Given the description of an element on the screen output the (x, y) to click on. 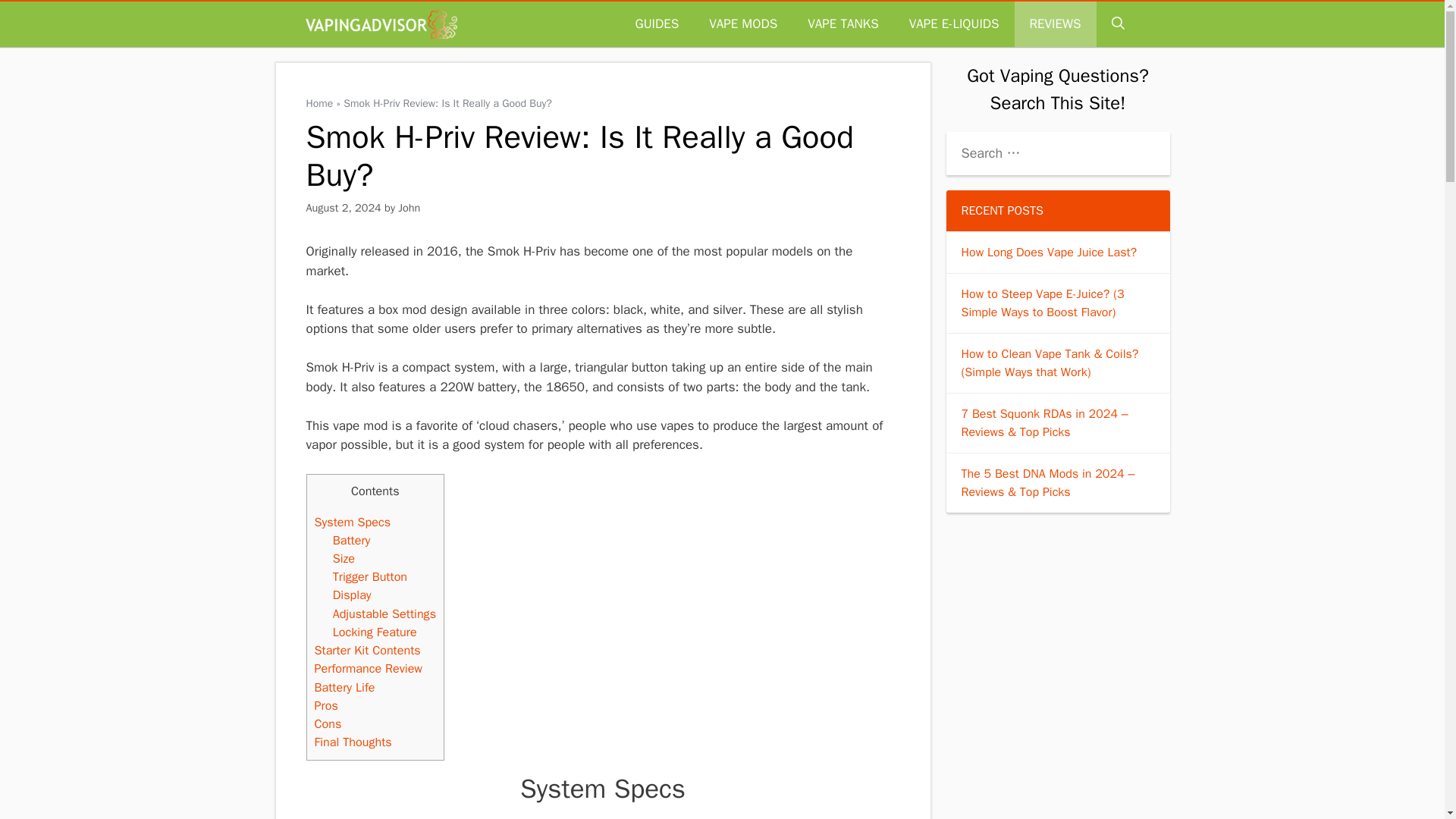
Final Thoughts (352, 741)
Search for: (1058, 153)
Vaping Advisor (384, 23)
Vaping Advisor (380, 23)
Locking Feature (374, 631)
Trigger Button (370, 576)
System Specs (352, 521)
REVIEWS (1055, 23)
VAPE E-LIQUIDS (953, 23)
VAPE MODS (743, 23)
